Given the description of an element on the screen output the (x, y) to click on. 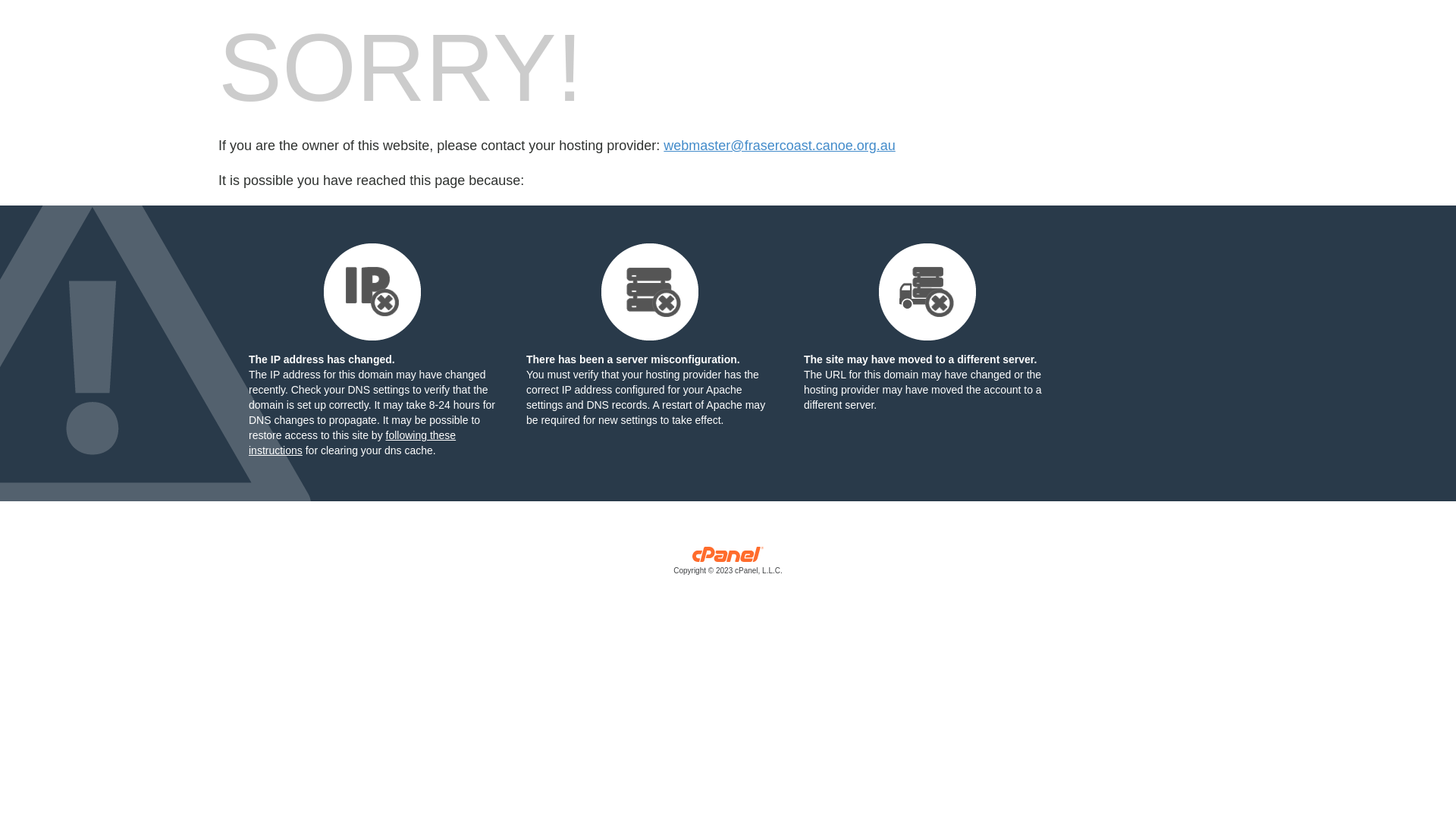
webmaster@frasercoast.canoe.org.au Element type: text (778, 145)
following these instructions Element type: text (351, 442)
